Given the description of an element on the screen output the (x, y) to click on. 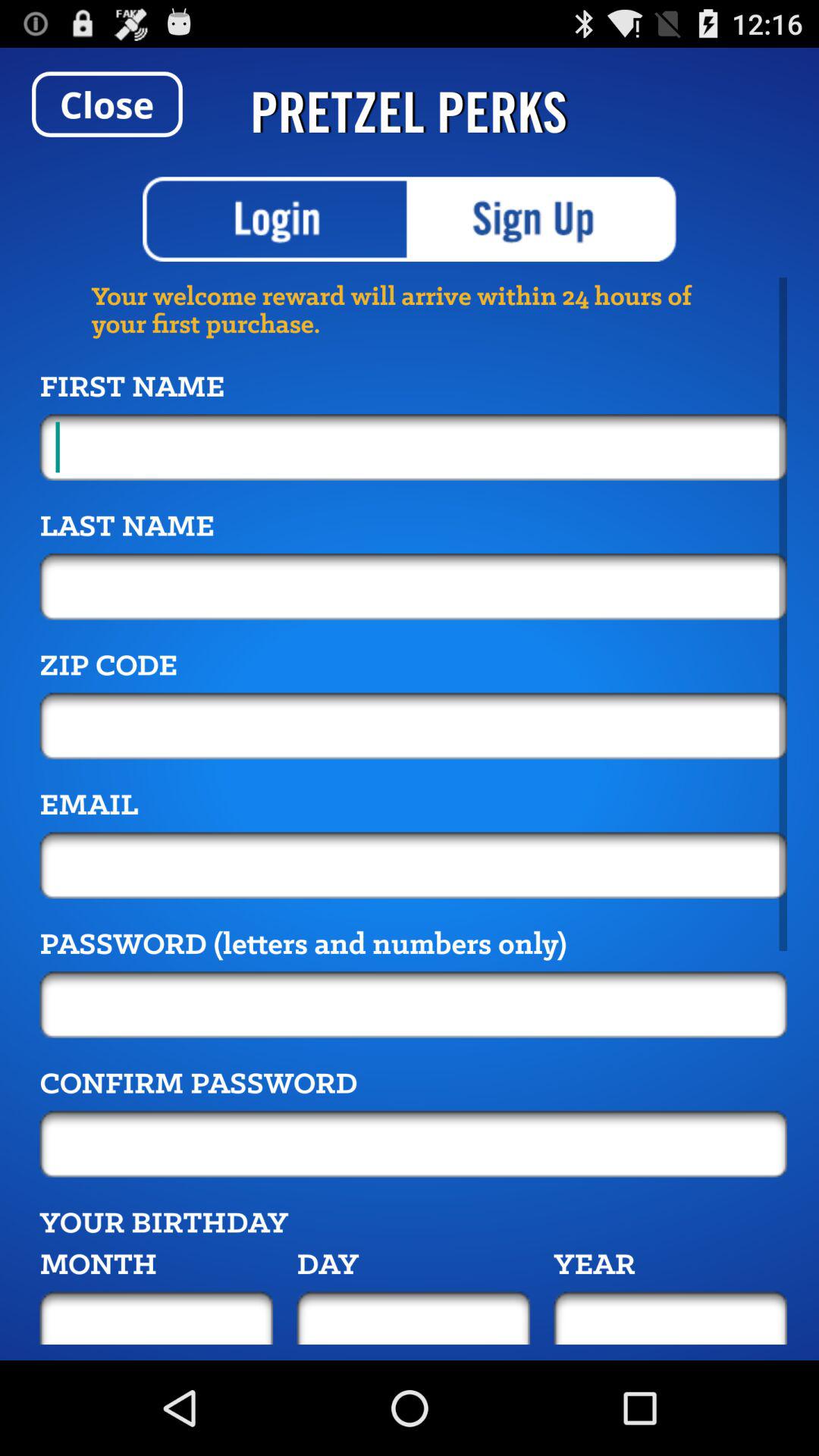
insert password (413, 1004)
